Given the description of an element on the screen output the (x, y) to click on. 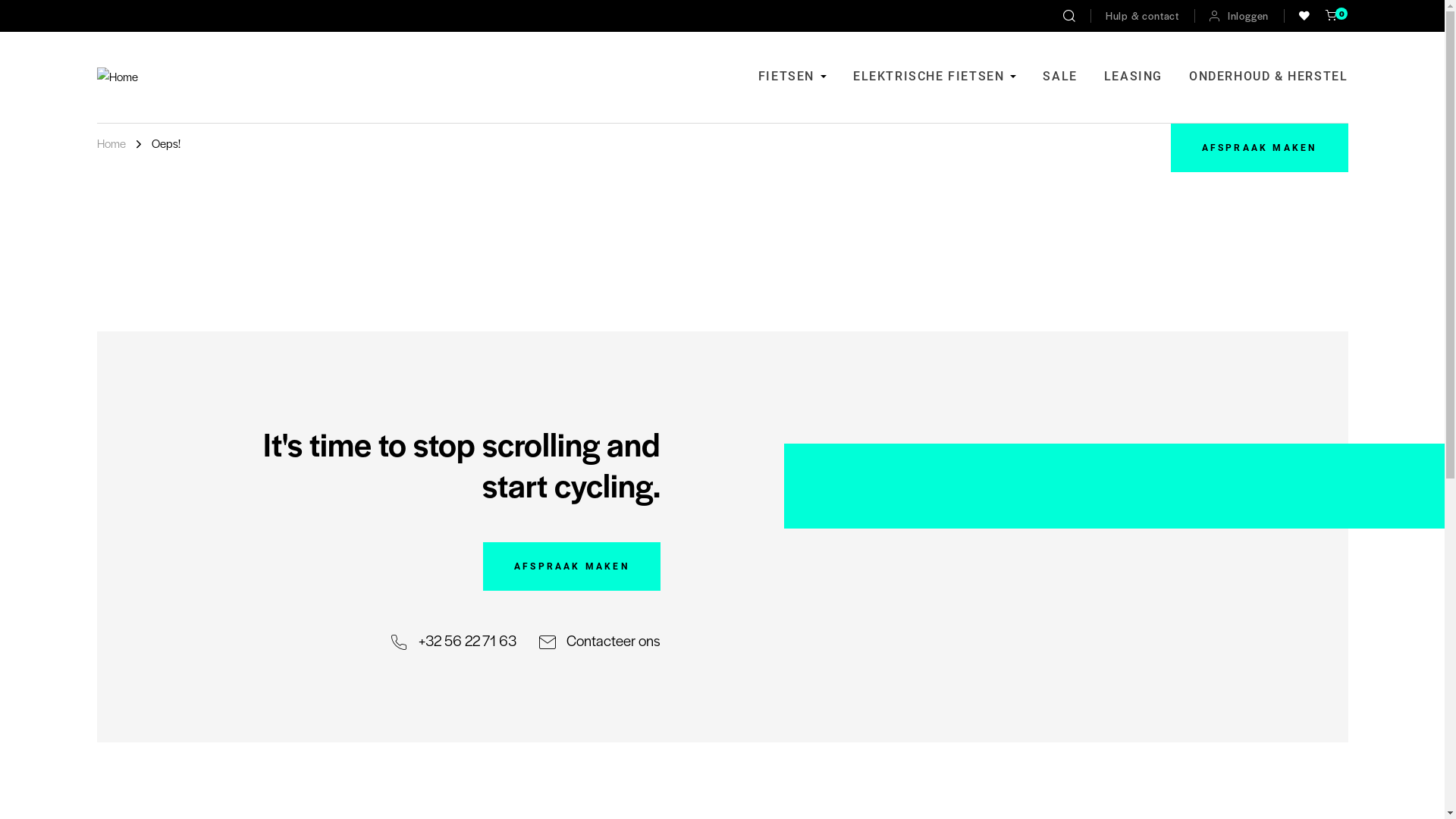
ELEKTRISCHE FIETSEN Element type: text (934, 76)
Contacteer ons Element type: text (599, 640)
LEASING Element type: text (1133, 76)
ONDERHOUD & HERSTEL Element type: text (1268, 76)
+32 56 22 71 63 Element type: text (453, 640)
Oeps! Element type: text (165, 143)
Inloggen Element type: text (1238, 15)
AFSPRAAK MAKEN Element type: text (571, 566)
Apply Element type: text (1069, 15)
AFSPRAAK MAKEN Element type: text (1259, 147)
Home Element type: text (111, 143)
SALE Element type: text (1059, 76)
Overslaan en naar de inhoud gaan Element type: text (0, 0)
FIETSEN Element type: text (792, 76)
Hulp & contact Element type: text (1142, 15)
0 Element type: text (1331, 15)
